Given the description of an element on the screen output the (x, y) to click on. 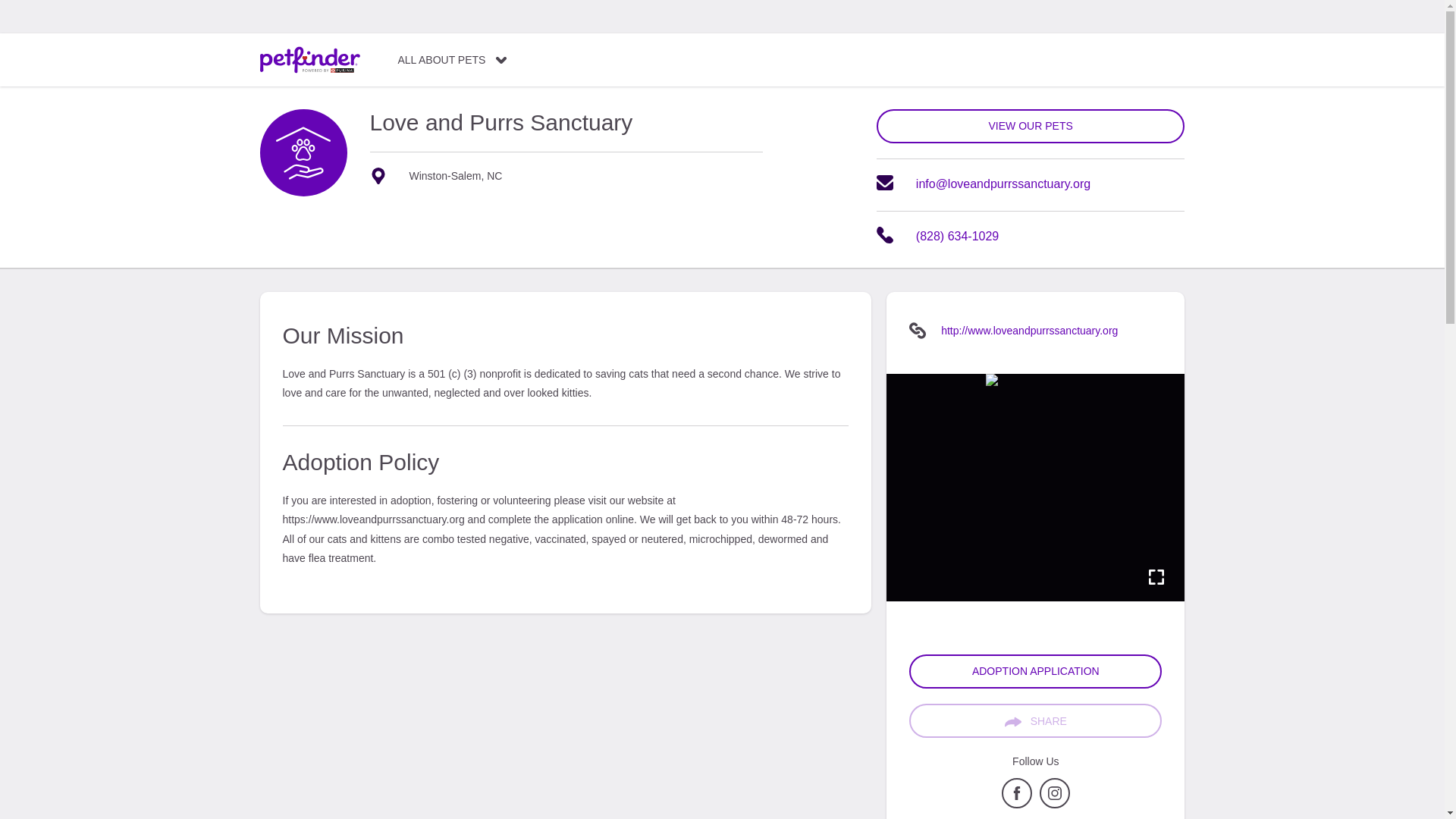
Follow Us on Instagram (1054, 804)
ALL ABOUT PETS (451, 60)
Follow Us on Facebook (1016, 804)
